Given the description of an element on the screen output the (x, y) to click on. 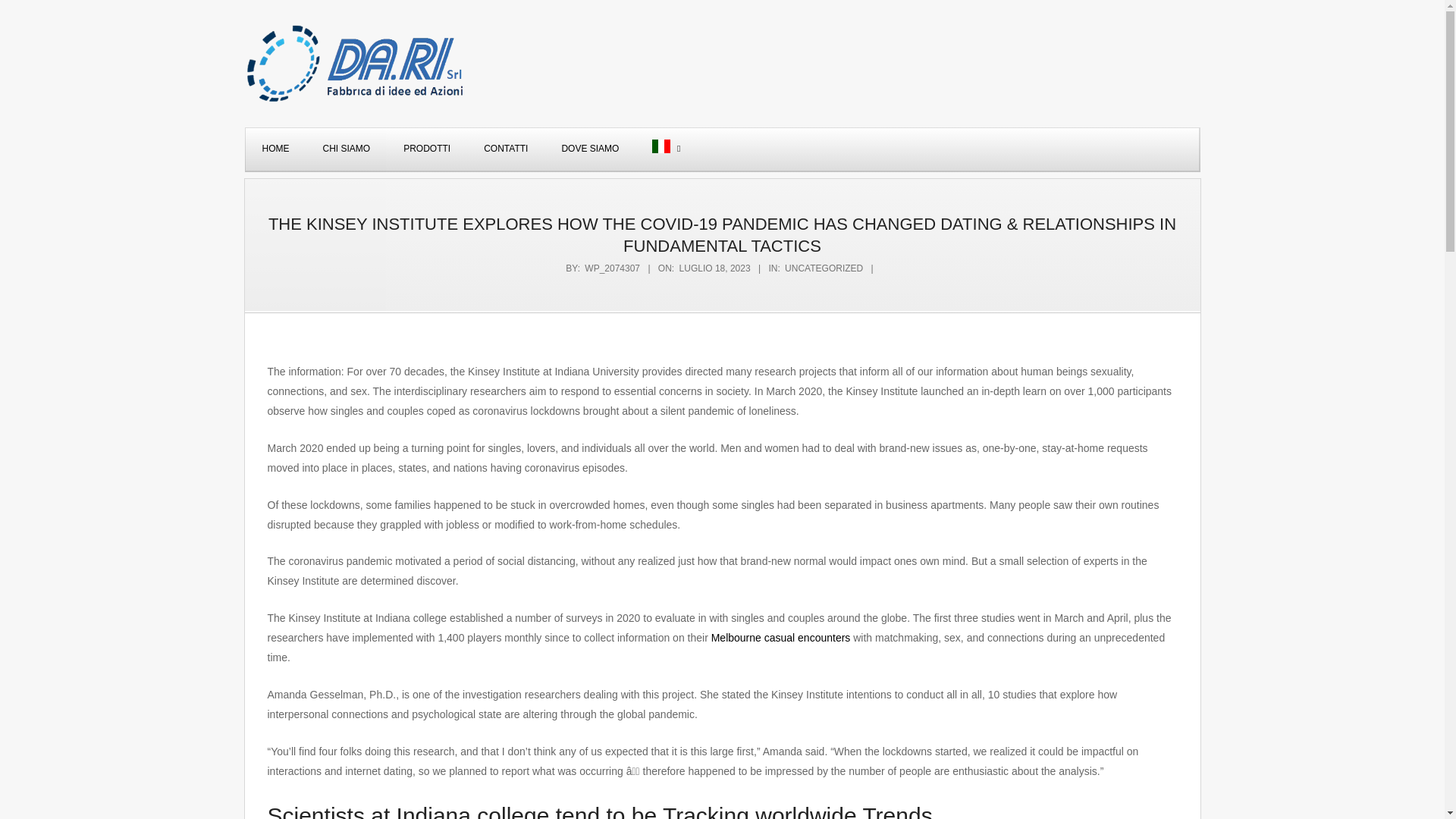
PRODOTTI (427, 148)
Melbourne casual encounters (780, 637)
CONTATTI (505, 148)
HOME (275, 148)
DOVE SIAMO (589, 148)
Italian (662, 148)
